Given the description of an element on the screen output the (x, y) to click on. 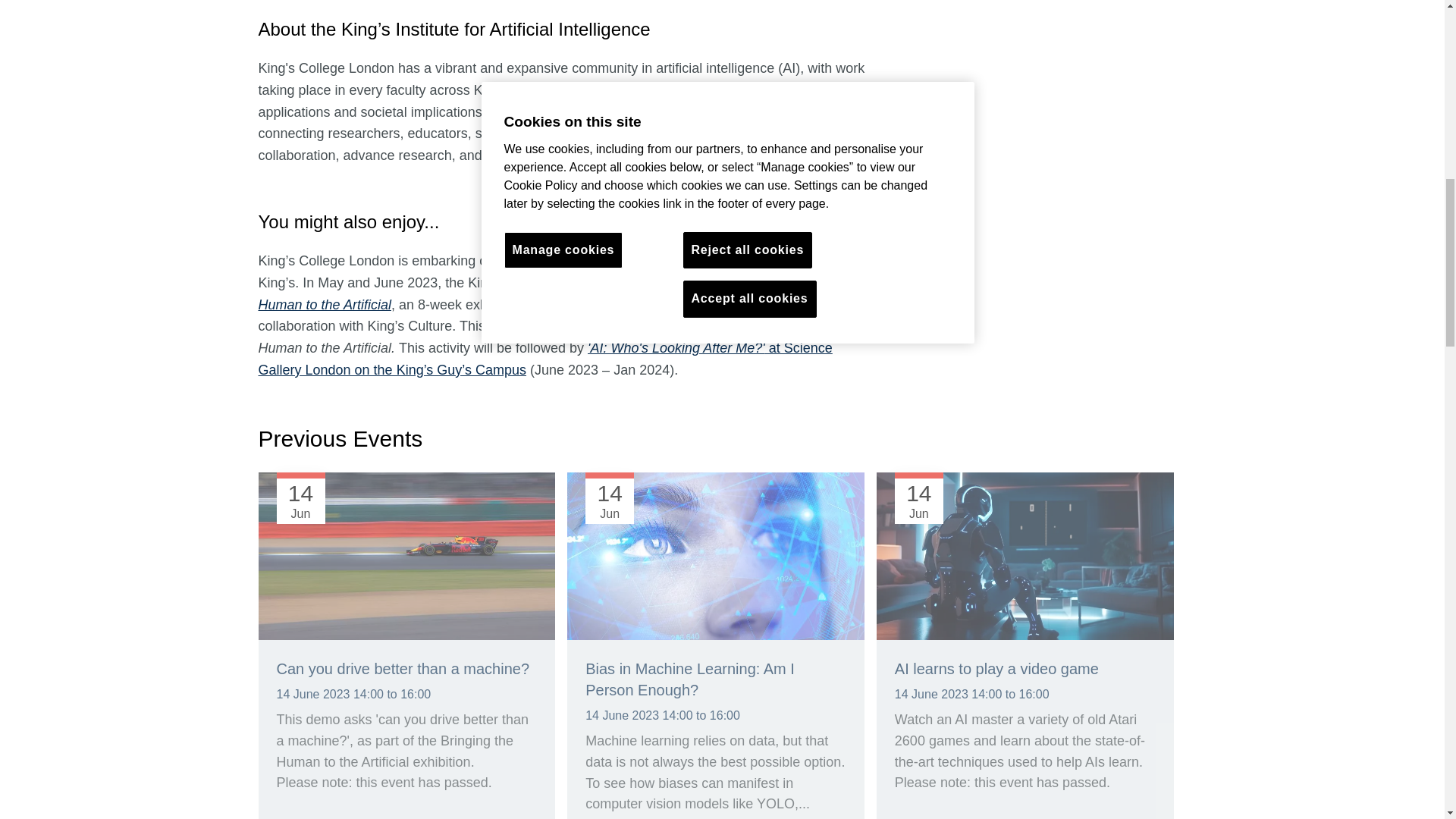
AI learns to play a video game (1024, 557)
Bias in Machine Learning: Am I Person Enough? (689, 679)
Can you drive better than a machine? (405, 557)
AI learns to play a video game (997, 668)
Bias in Machine Learning: Am I Person Enough? (715, 557)
Can you drive better than a machine? (402, 668)
